Given the description of an element on the screen output the (x, y) to click on. 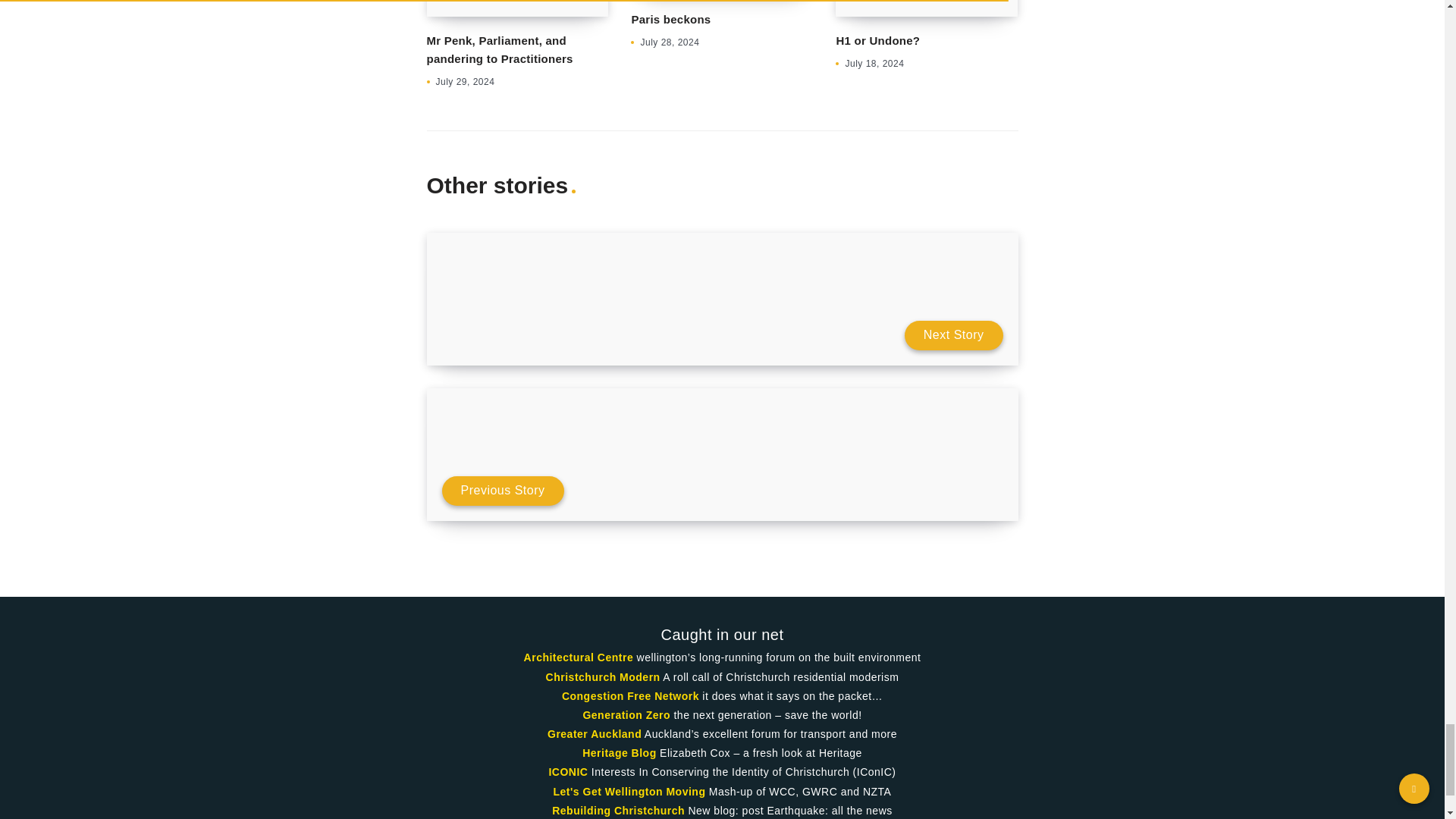
Christchurch Modern (603, 676)
Paris beckons (670, 19)
A roll call of Christchurch residential moderism (603, 676)
H1 or Undone? (877, 40)
Greater Auckland (594, 734)
Architectural Centre (578, 657)
Congestion Free Network (630, 695)
Generation Zero (625, 715)
Mash-up of WCC, GWRC and NZTA (629, 791)
Mr Penk, Parliament, and pandering to Practitioners (499, 49)
